Given the description of an element on the screen output the (x, y) to click on. 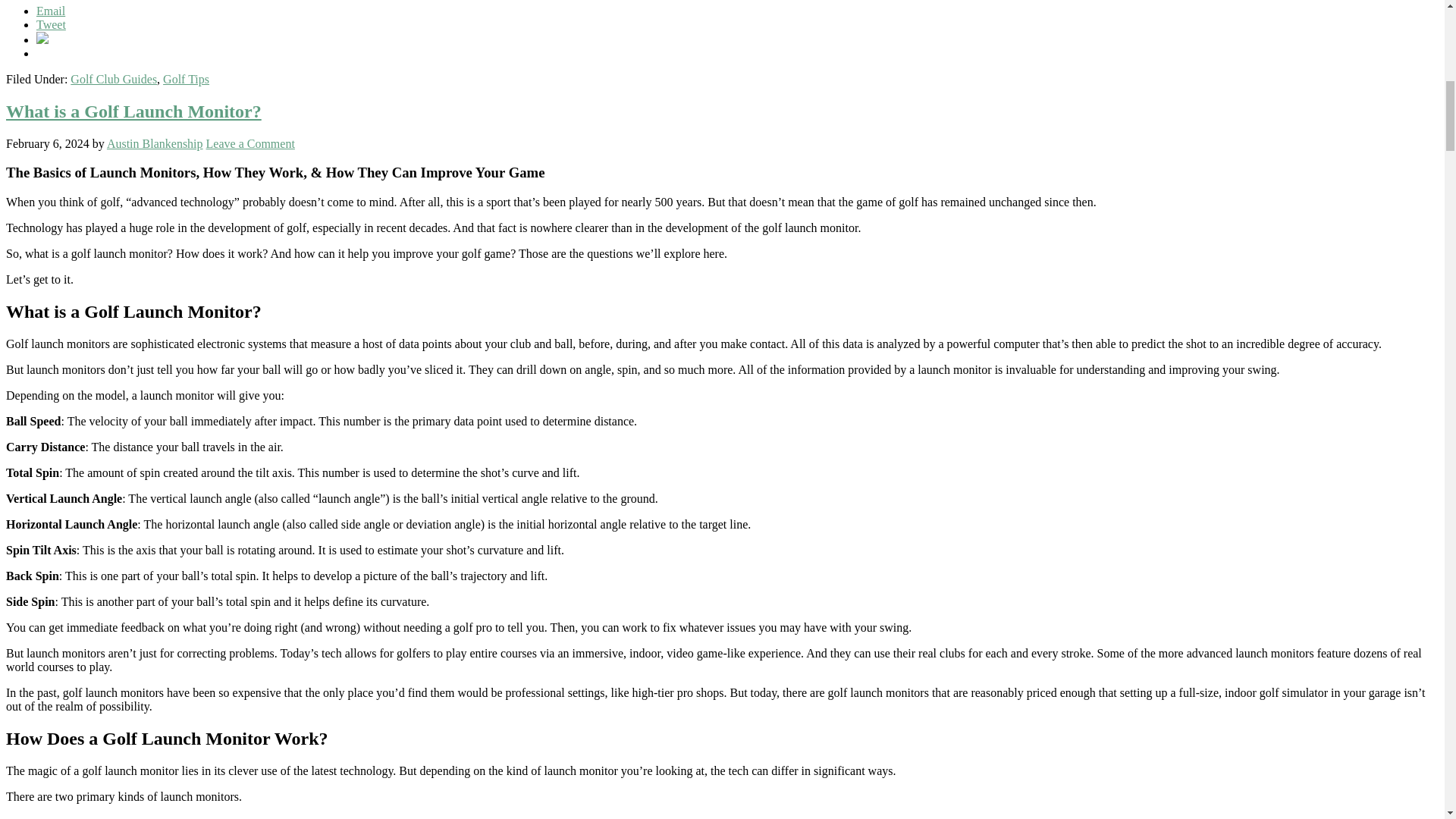
Tweet (50, 24)
What is a Golf Launch Monitor? (133, 111)
Email (50, 10)
Golf Tips (186, 78)
Golf Club Guides (113, 78)
Austin Blankenship (154, 143)
Click to email this to a friend (50, 10)
Leave a Comment (250, 143)
